Given the description of an element on the screen output the (x, y) to click on. 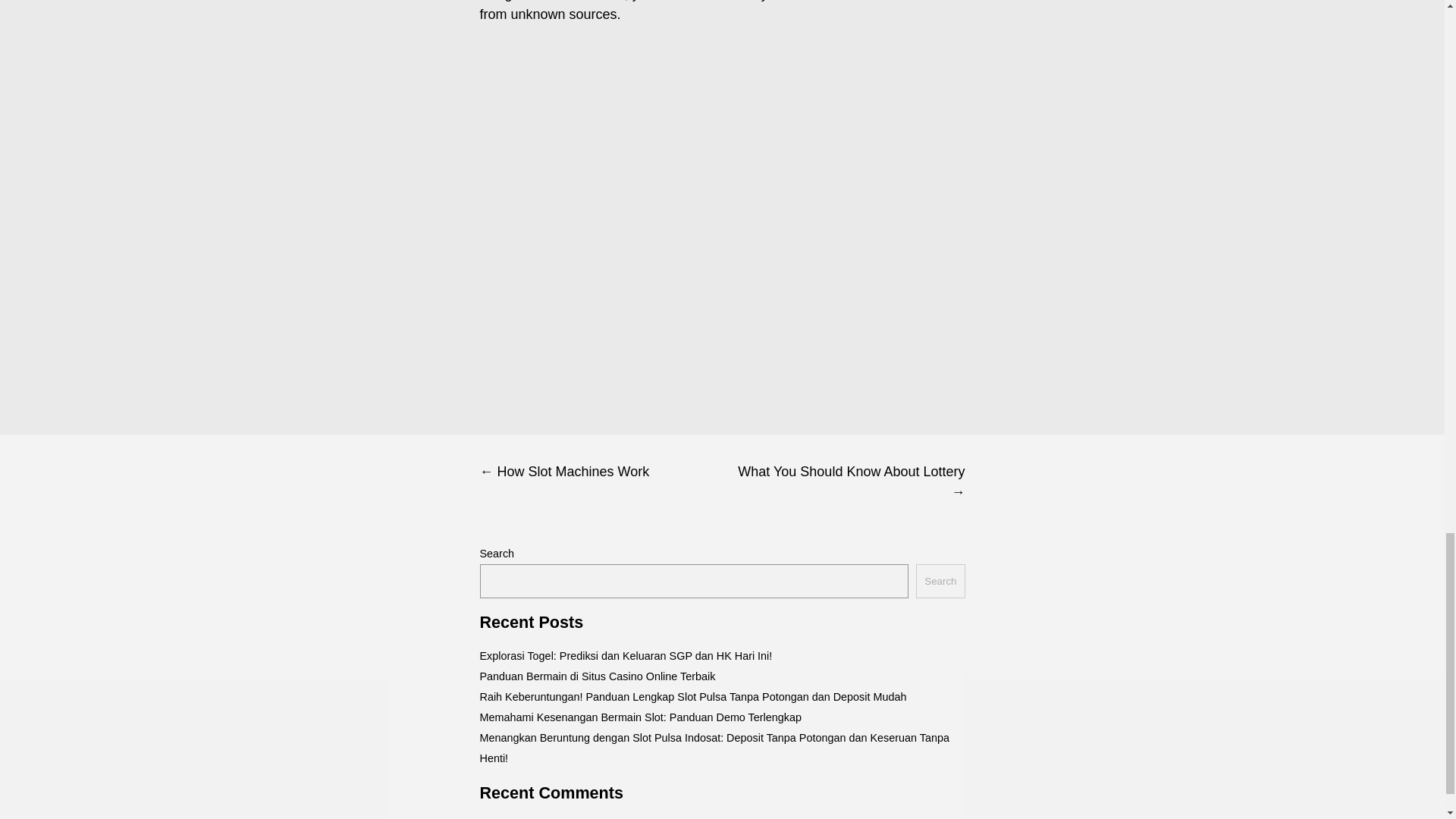
Search (939, 581)
Panduan Bermain di Situs Casino Online Terbaik (596, 676)
Memahami Kesenangan Bermain Slot: Panduan Demo Terlengkap (640, 717)
Explorasi Togel: Prediksi dan Keluaran SGP dan HK Hari Ini! (625, 655)
How Slot Machines Work (600, 471)
What You Should Know About Lottery (842, 481)
